Given the description of an element on the screen output the (x, y) to click on. 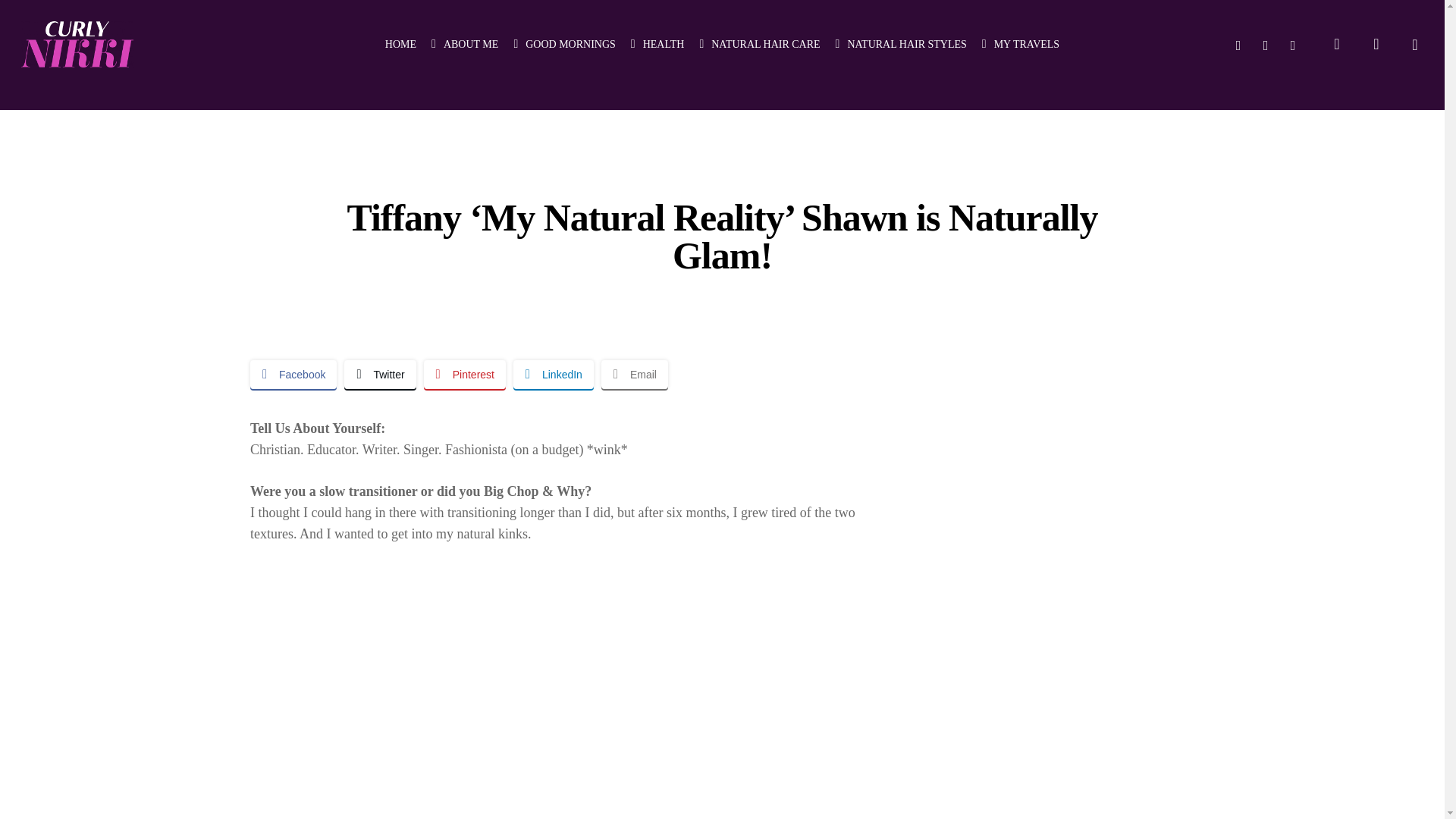
NATURAL HAIR STYLES (900, 44)
ABOUT ME (463, 44)
HEALTH (657, 44)
HOME (400, 44)
GOOD MORNINGS (563, 44)
NATURAL HAIR CARE (758, 44)
